Given the description of an element on the screen output the (x, y) to click on. 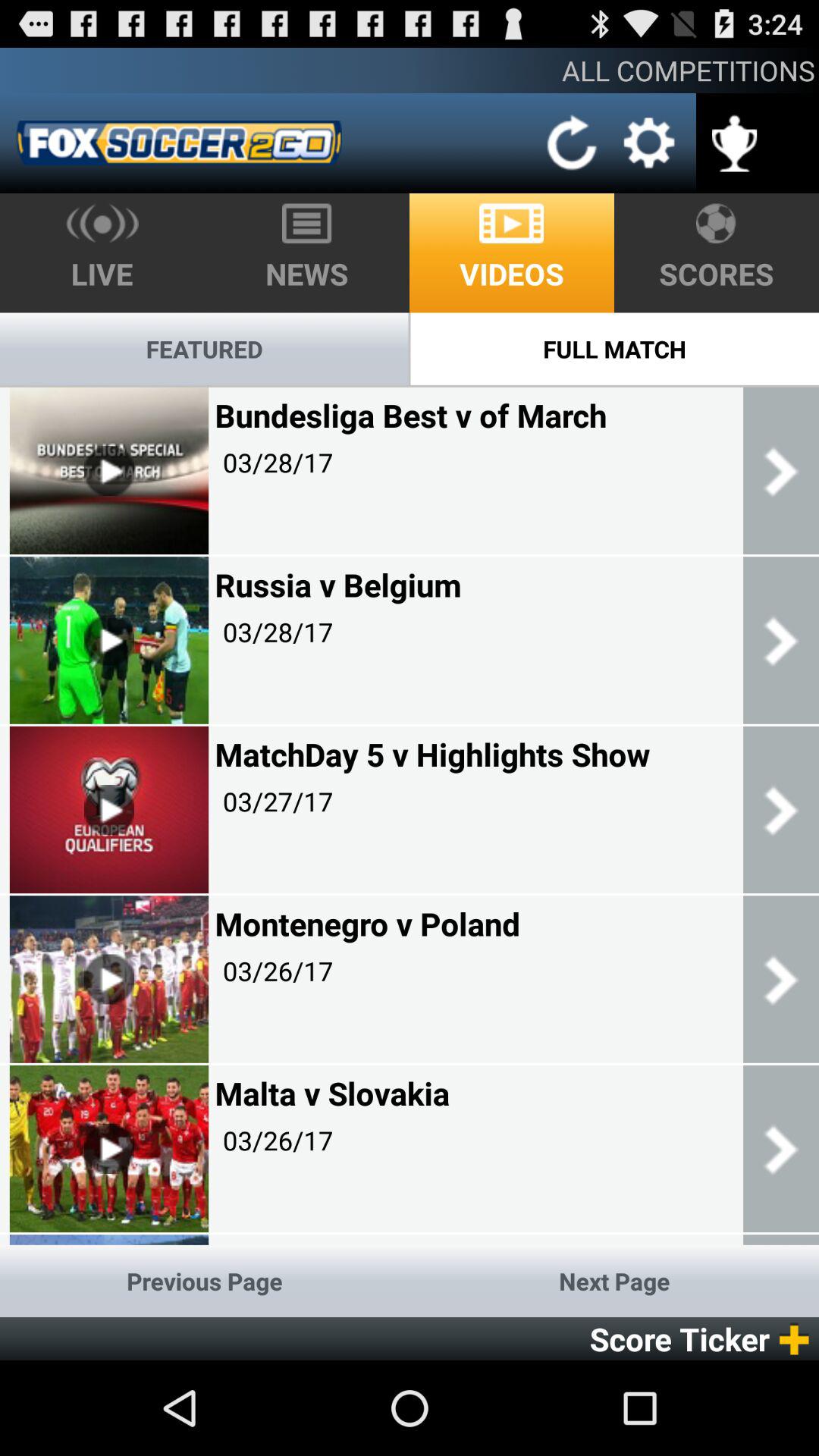
click on trophy icon (733, 132)
select the last right scroll (780, 1148)
select the third right scroll (780, 809)
select the right scroll in the 2nd row (780, 639)
click on the add icon next to score ticker (799, 1339)
select the first right scroll in the image (780, 470)
